Given the description of an element on the screen output the (x, y) to click on. 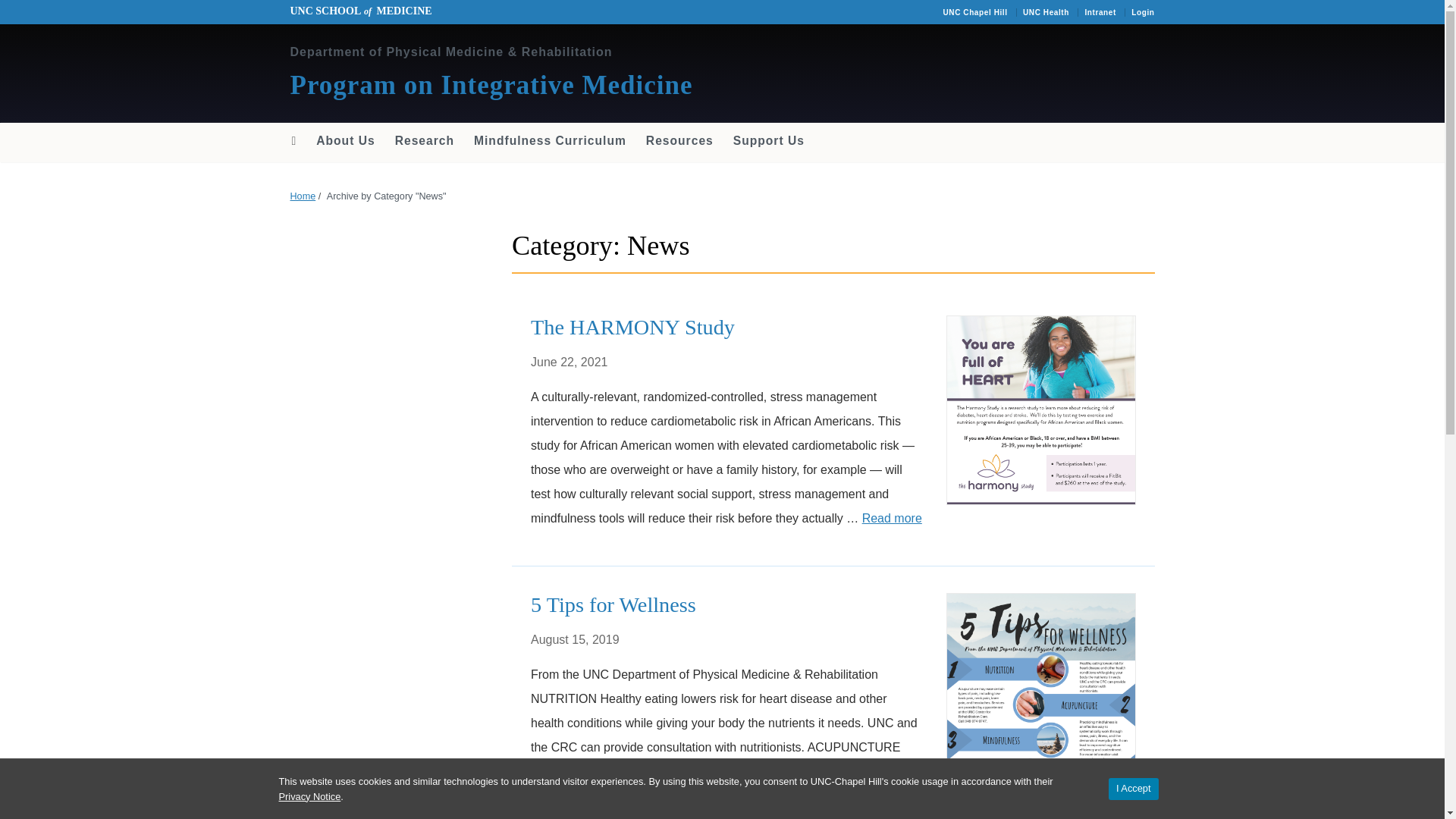
UNC Health (1045, 12)
The HARMONY Study (633, 327)
Login (1142, 12)
Research (424, 140)
UNC SCHOOL of MEDICINE (359, 11)
Intranet (1099, 12)
About Us (344, 140)
Mindfulness Curriculum (550, 140)
Read more (717, 795)
UNC Chapel Hill (974, 12)
Resources (679, 140)
Program on Integrative Medicine (491, 84)
I Accept (1133, 789)
Privacy Notice (309, 796)
Site Admin Only (1142, 12)
